Given the description of an element on the screen output the (x, y) to click on. 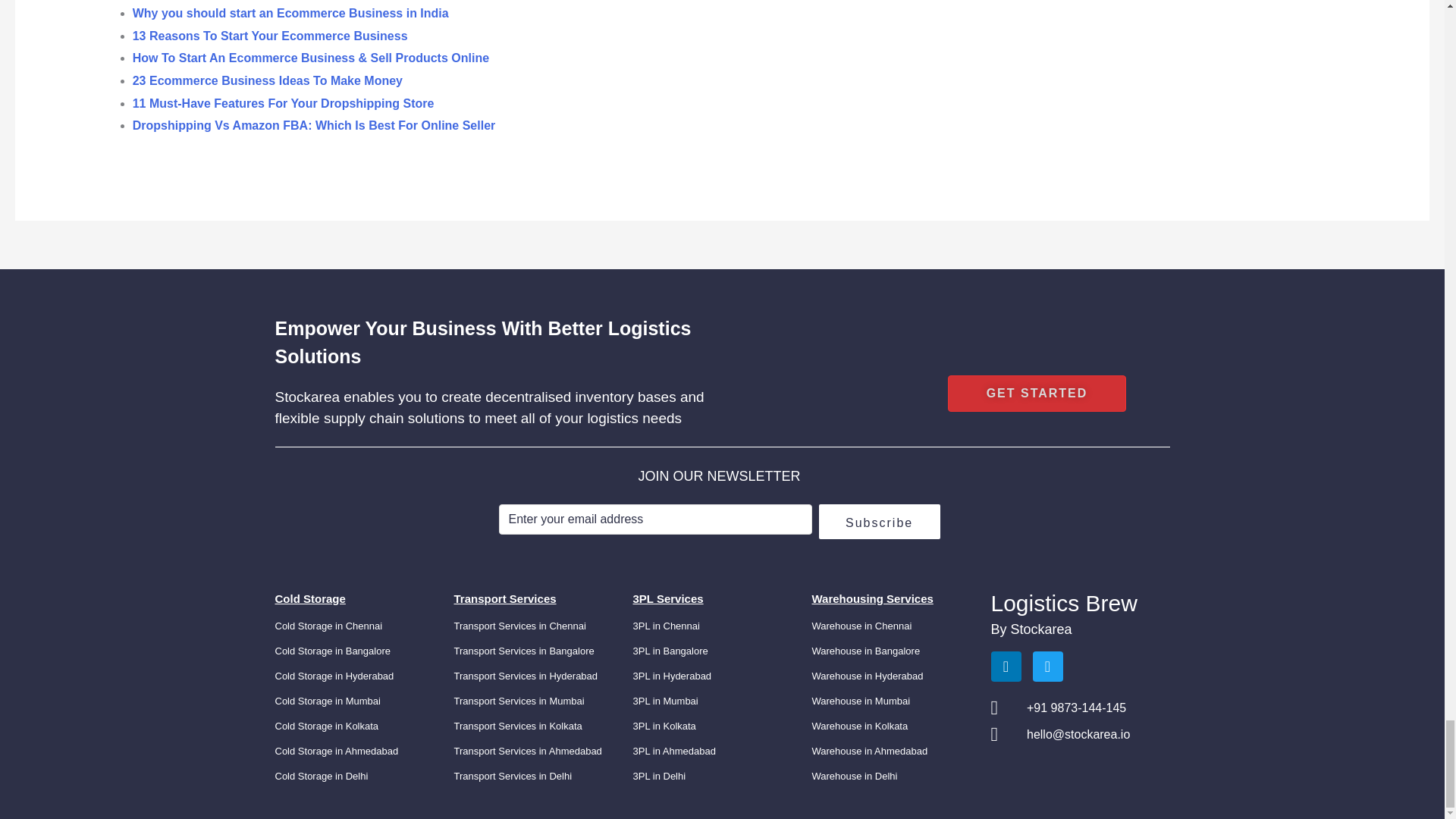
11 Must-Have Features For Your Dropshipping Store (282, 103)
Why you should start an Ecommerce Business in India (290, 12)
Cold Storage in Bangalore (332, 650)
13 Reasons To Start Your Ecommerce Business (269, 35)
23 Ecommerce Business Ideas To Make Money (267, 80)
Subscribe (879, 521)
13 Reasons To Start Your Ecommerce Business (269, 35)
GET STARTED (1036, 393)
Dropshipping Vs Amazon FBA: Which Is Best For Online Seller (314, 124)
Dropshipping Vs Amazon FBA: Which Is Best For Online Seller (314, 124)
11 Must-Have Features For Your Dropshipping Store (282, 103)
23 Ecommerce Business Ideas To Make Money (267, 80)
Why you should start an Ecommerce Business in India (290, 12)
Cold Storage in Chennai (328, 625)
